Given the description of an element on the screen output the (x, y) to click on. 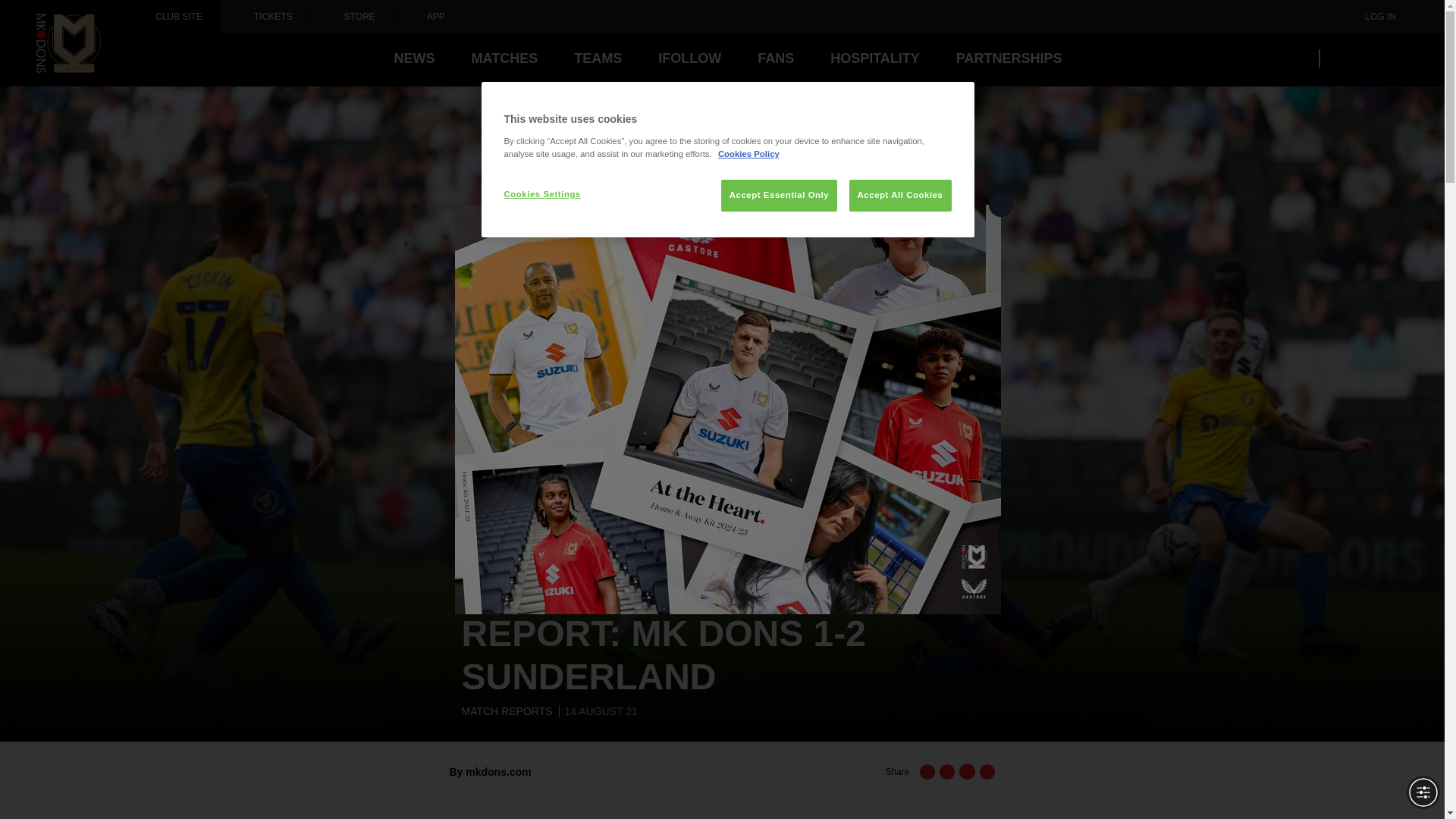
PARTNERSHIPS (1009, 58)
HOSPITALITY (874, 58)
STORE (352, 16)
APP (428, 16)
Help widget launcher (75, 781)
TICKETS (266, 16)
Accessibility Menu (1422, 792)
CLUB SITE (178, 16)
IFOLLOW (689, 58)
TEAMS (597, 58)
MATCHES (503, 58)
